Given the description of an element on the screen output the (x, y) to click on. 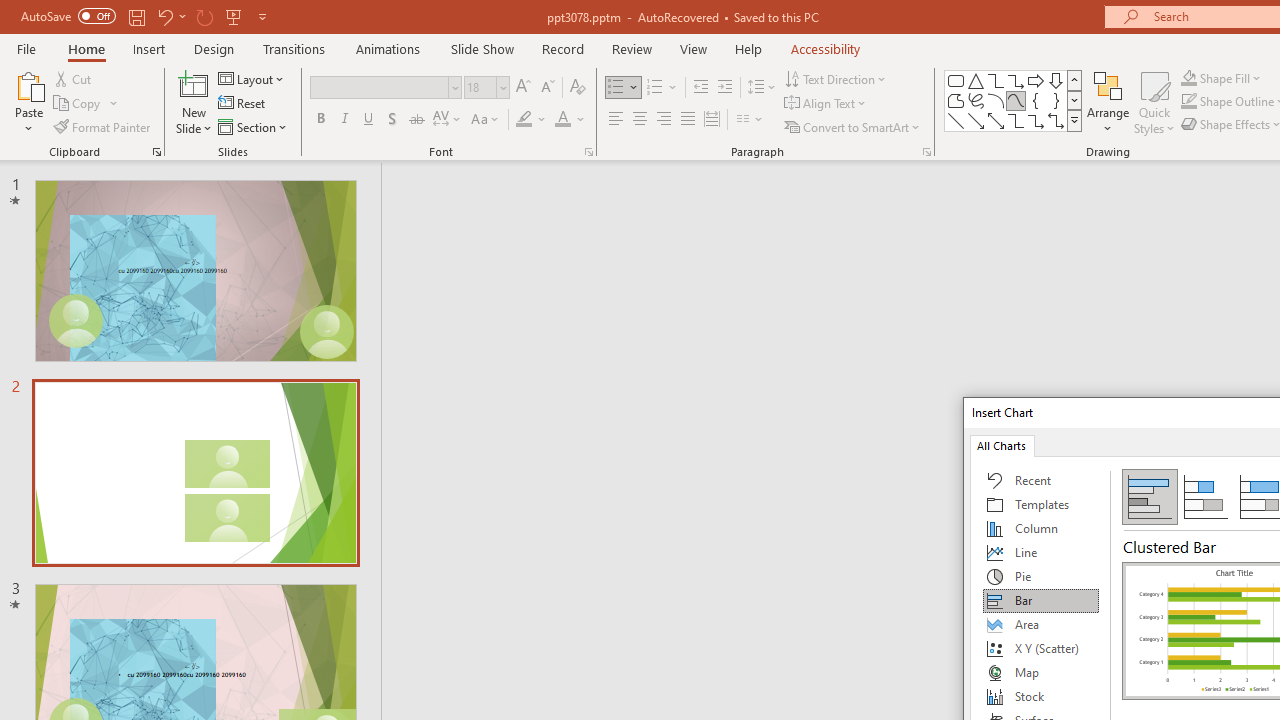
Pie (1041, 576)
Distributed (712, 119)
Align Right (663, 119)
Shape Outline Green, Accent 1 (1188, 101)
Area (1041, 624)
Align Left (616, 119)
Text Highlight Color Yellow (524, 119)
